Given the description of an element on the screen output the (x, y) to click on. 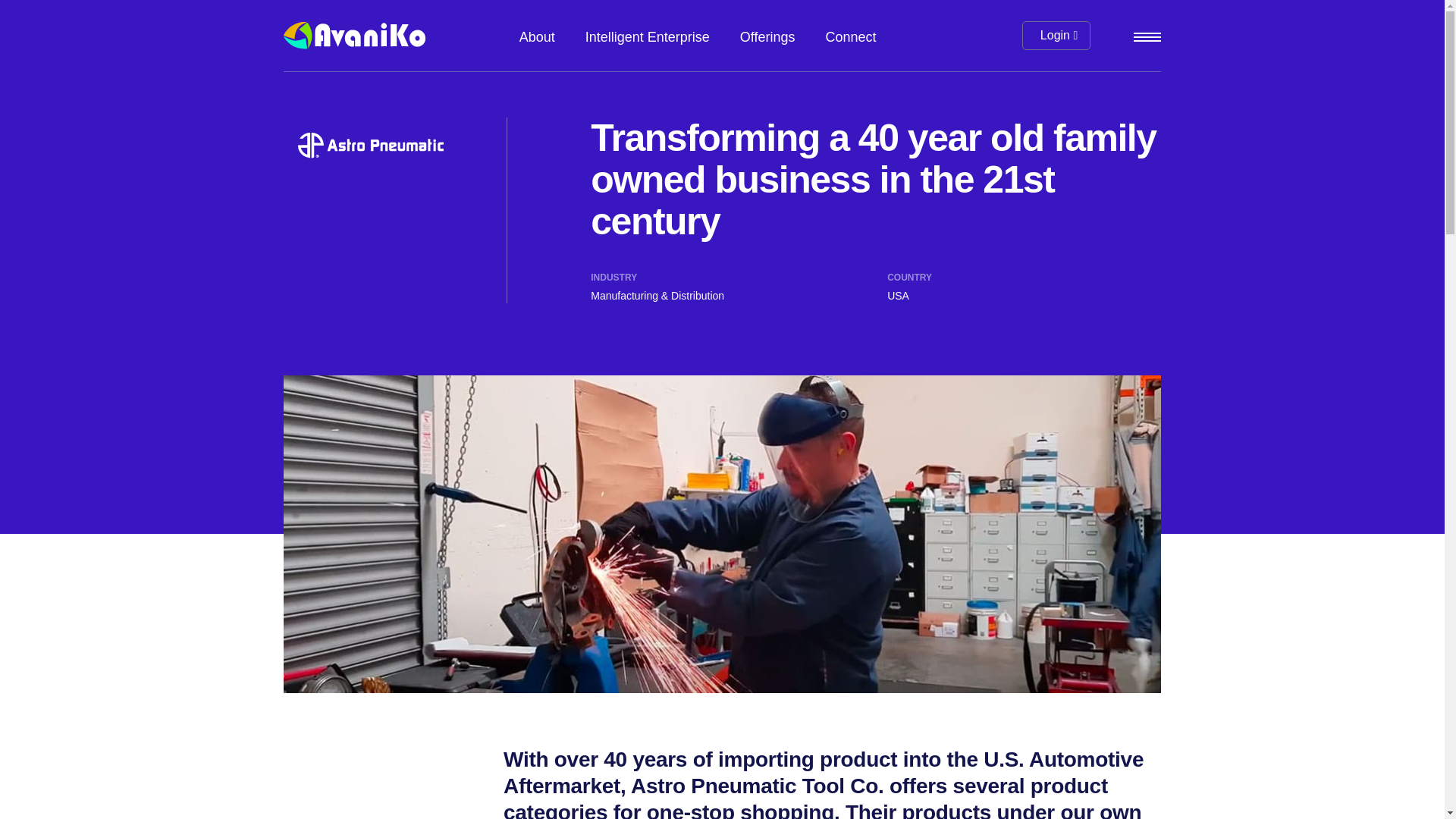
Login (1056, 35)
Intelligent Enterprise (647, 35)
